Given the description of an element on the screen output the (x, y) to click on. 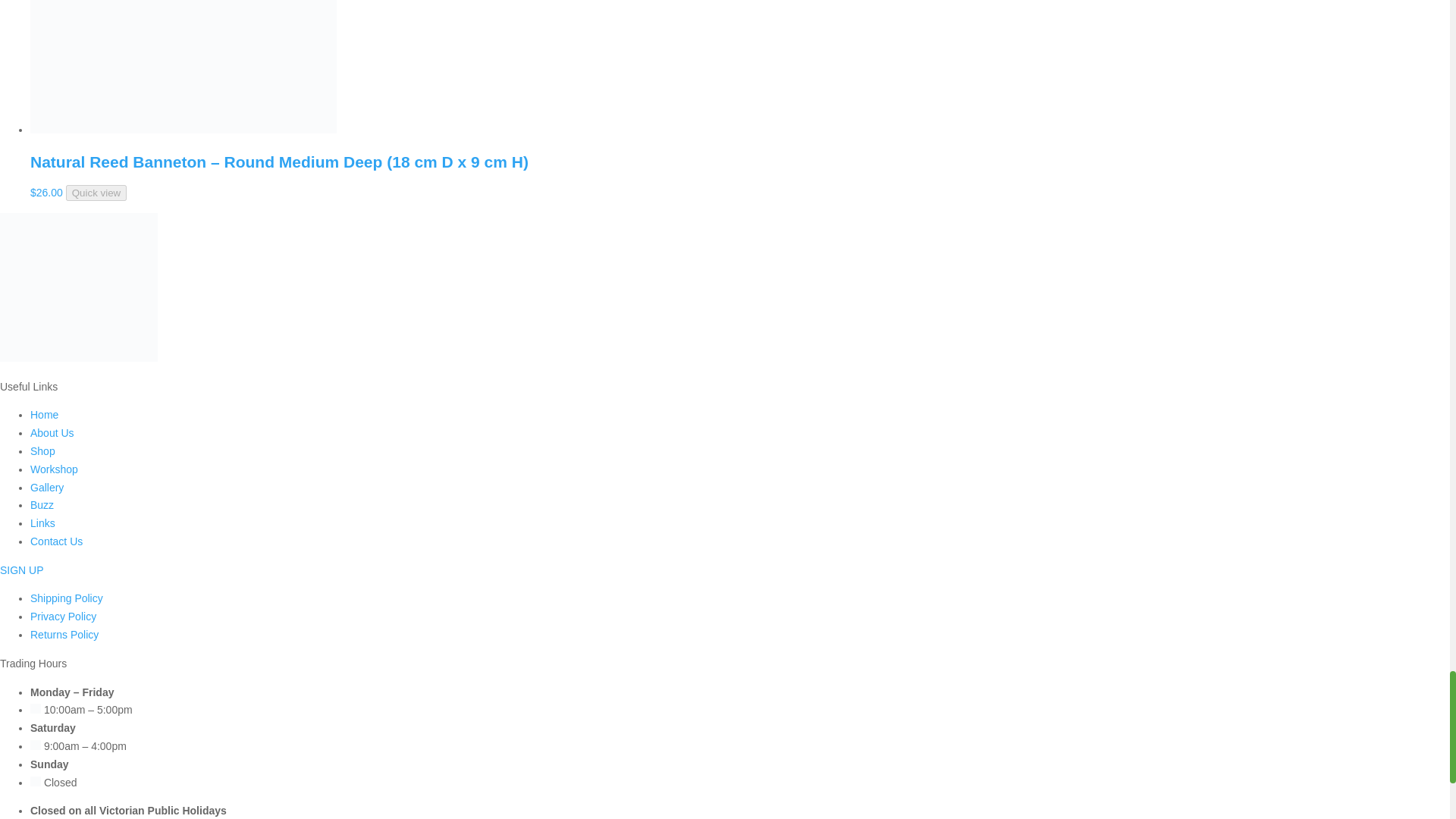
Bee Sustainable Logo (78, 286)
